Given the description of an element on the screen output the (x, y) to click on. 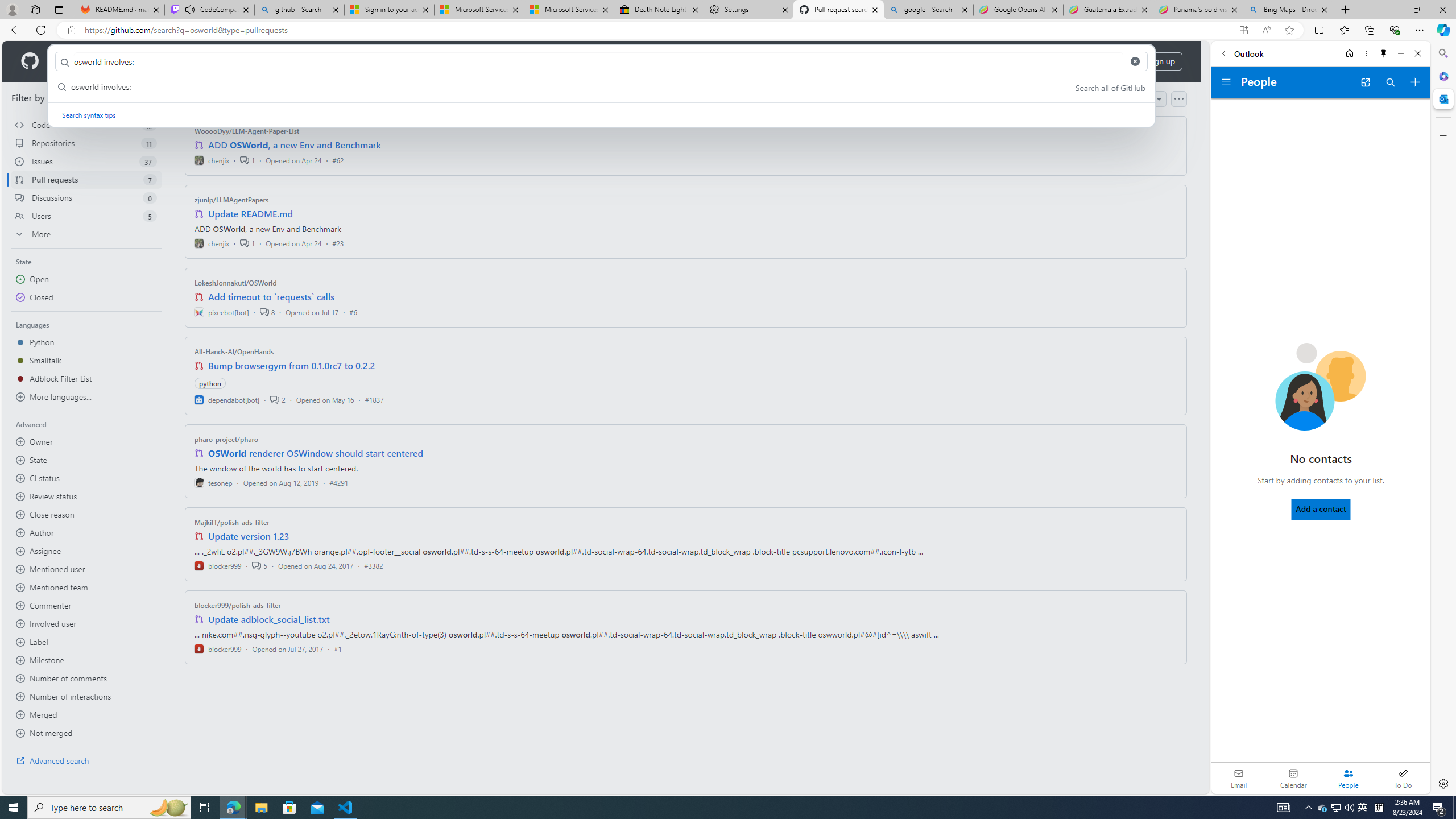
Mute tab (189, 8)
#4291 (338, 482)
Microsoft Services Agreement (568, 9)
google - Search (928, 9)
